Given the description of an element on the screen output the (x, y) to click on. 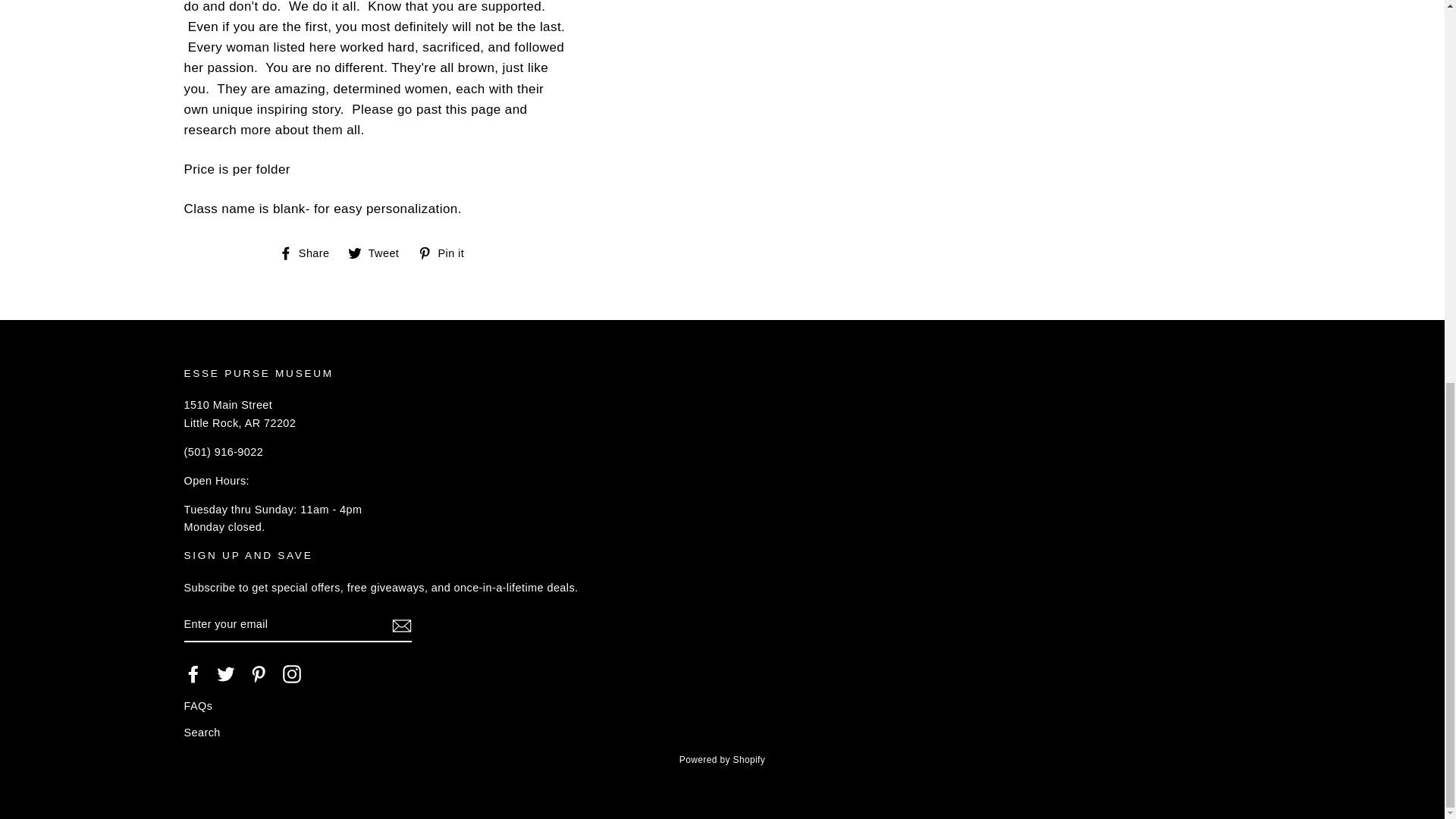
Share on Facebook (309, 252)
Pin on Pinterest (446, 252)
Tweet on Twitter (378, 252)
